Given the description of an element on the screen output the (x, y) to click on. 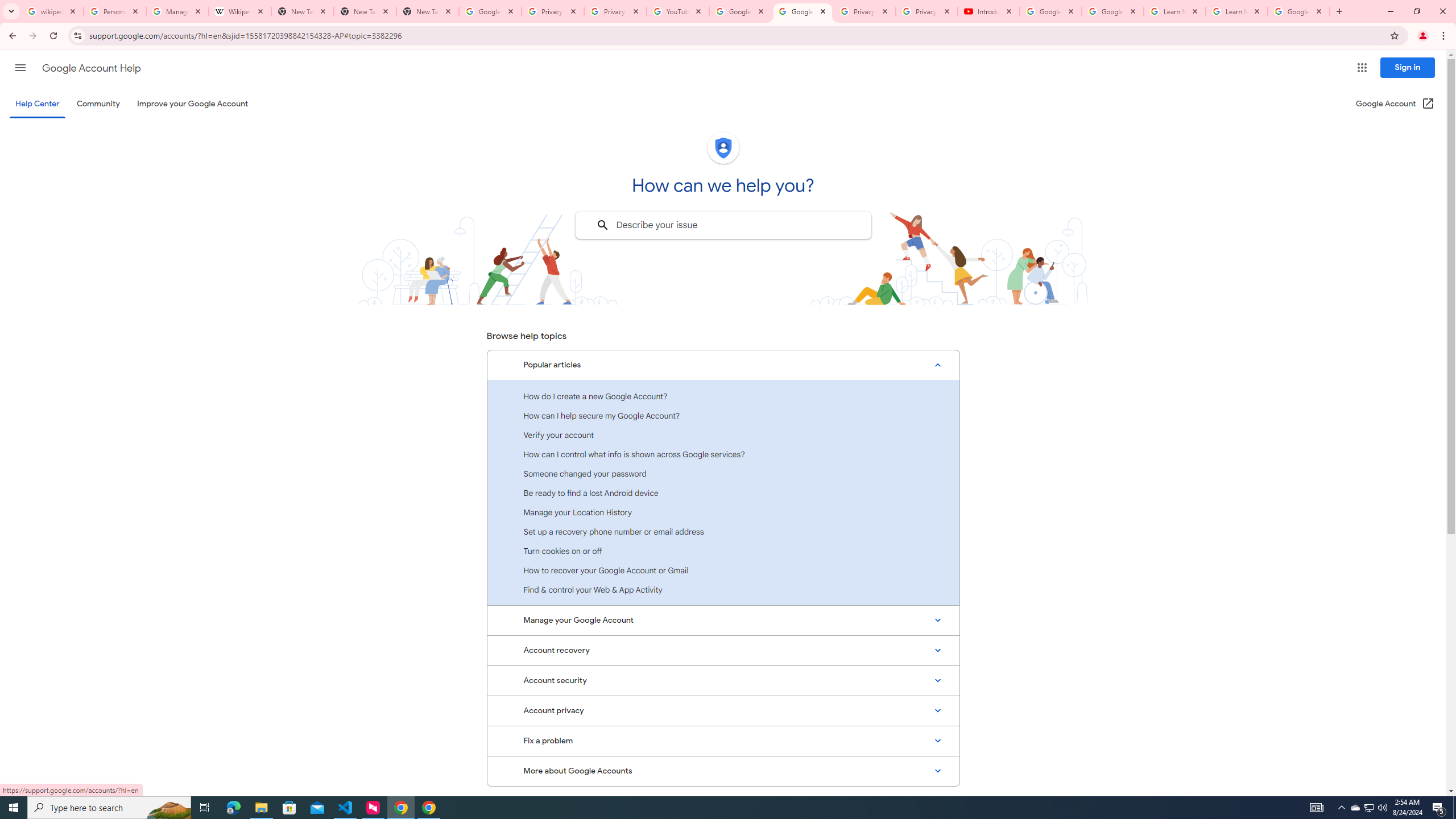
Introduction | Google Privacy Policy - YouTube (988, 11)
Google Account Help (740, 11)
How can I control what info is shown across Google services? (722, 454)
Community (97, 103)
YouTube (678, 11)
Search (601, 225)
How can I help secure my Google Account? (722, 415)
New Tab (427, 11)
Google Account (Open in a new window) (1395, 103)
How do I create a new Google Account? (722, 396)
Account recovery (722, 650)
Google Account Help (1050, 11)
